Given the description of an element on the screen output the (x, y) to click on. 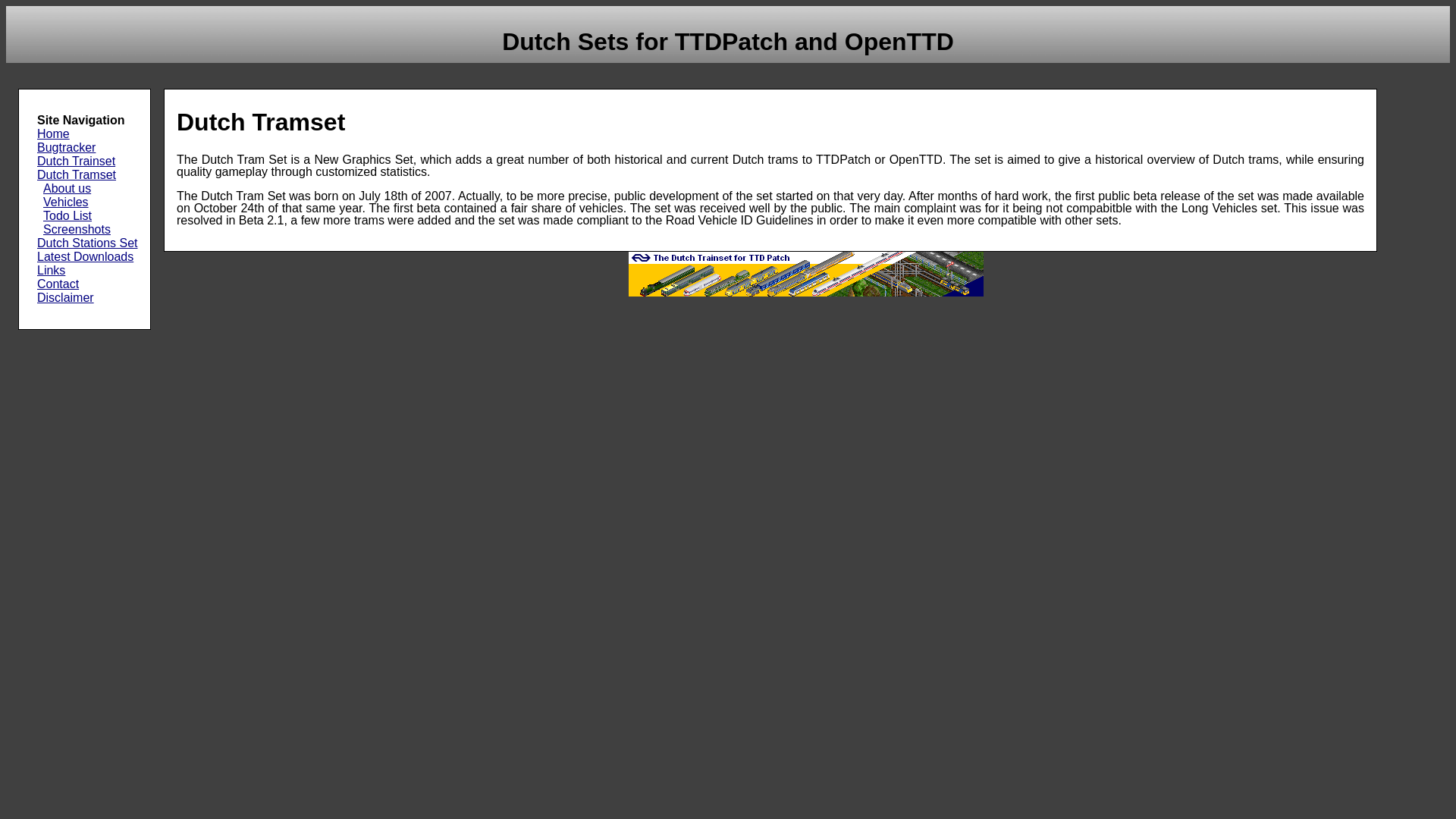
Screenshots (90, 229)
Disclaimer (87, 297)
Contact (87, 284)
Dutch Trainset (87, 161)
Dutch Tramset (87, 174)
Bugtracker (87, 147)
Latest Downloads (87, 256)
Dutch Stations Set (87, 243)
About us (90, 188)
Vehicles (90, 202)
Todo List (90, 215)
Links (87, 270)
Home (87, 133)
